Given the description of an element on the screen output the (x, y) to click on. 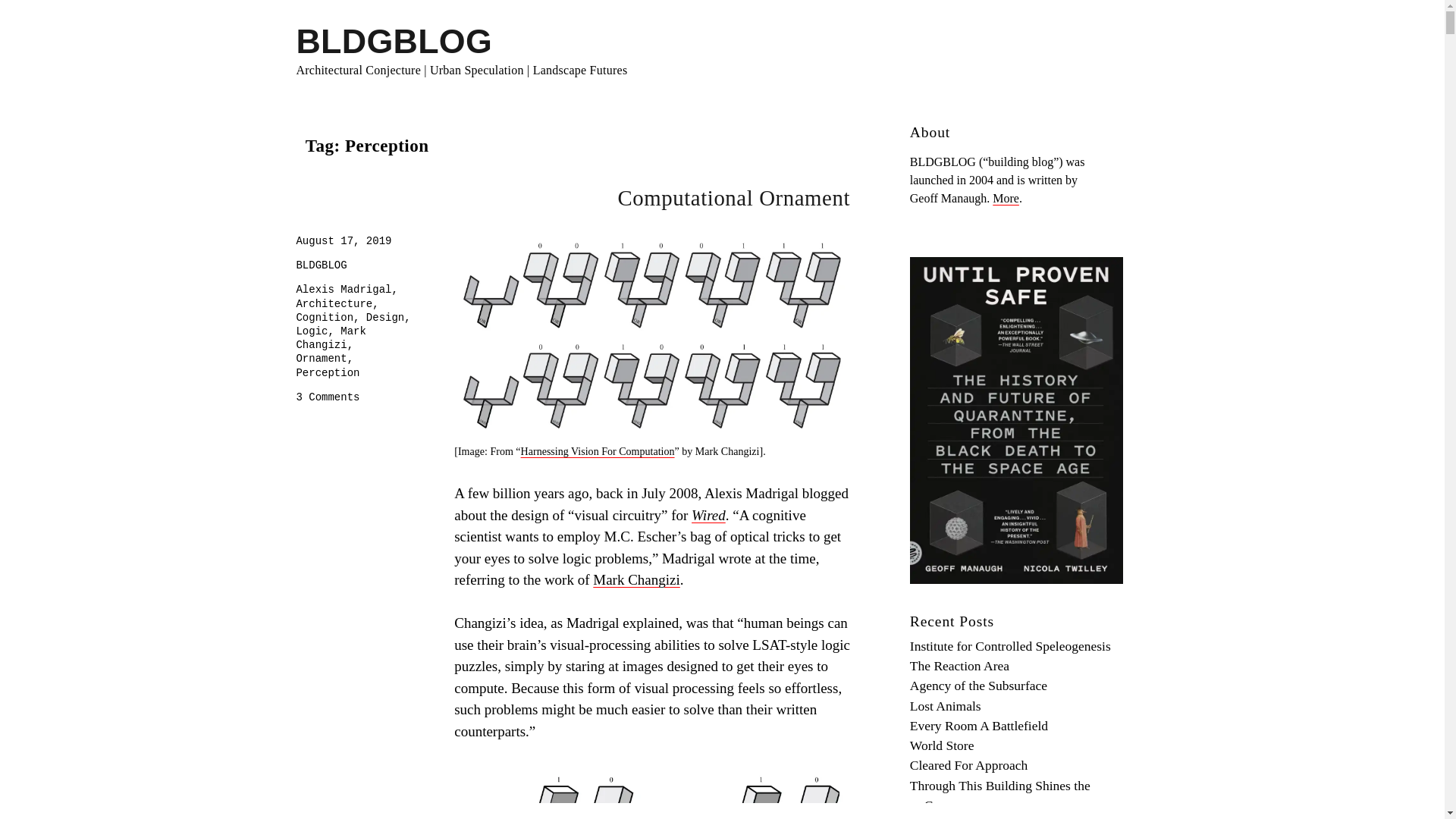
Cognition (324, 317)
Logic (311, 331)
Mark Changizi (635, 579)
Alexis Madrigal (343, 289)
Ornament (320, 358)
August 17, 2019 (343, 241)
Mark Changizi (327, 397)
Harnessing Vision For Computation (330, 338)
Perception (598, 451)
